Given the description of an element on the screen output the (x, y) to click on. 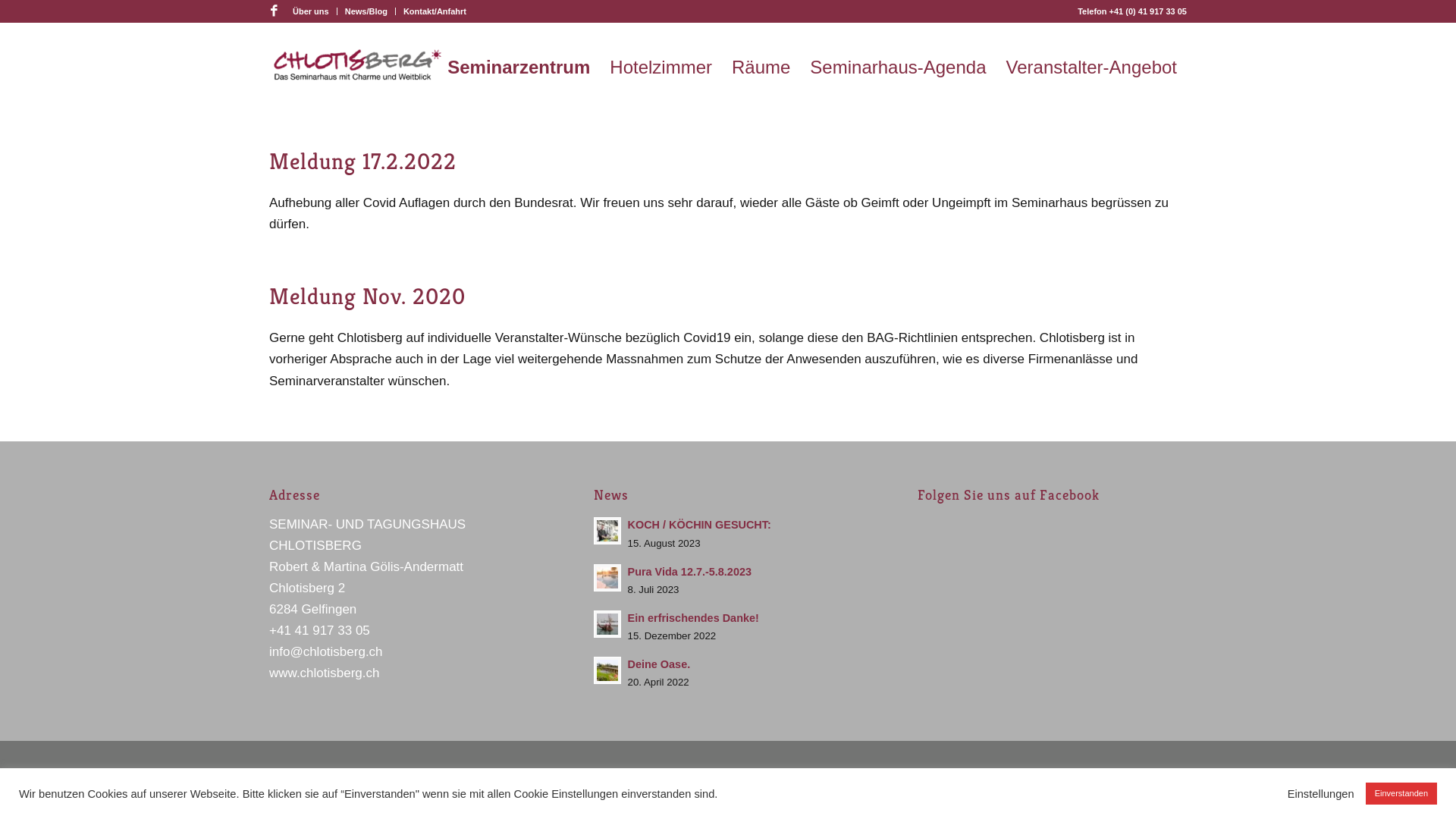
Ein erfrischendes Danke! Element type: text (693, 617)
Einverstanden Element type: text (1401, 793)
Hotelzimmer Element type: text (660, 67)
+41 (0) 41 917 33 05 Element type: text (1147, 10)
Pura Vida 12.7.-5.8.2023 Element type: text (689, 571)
Read: Deine Oase. Element type: hover (607, 670)
Seminarzentrum Element type: text (518, 67)
Read: Ein erfrischendes Danke! Element type: hover (607, 623)
Einstellungen Element type: text (1320, 793)
Veranstalter-Angebot Element type: text (1091, 67)
Deine Oase. Element type: text (658, 664)
Facebook Element type: hover (273, 11)
Kontakt/Anfahrt Element type: text (434, 11)
Seminarhaus-Agenda Element type: text (897, 67)
News/Blog Element type: text (366, 11)
Read: Pura Vida 12.7.-5.8.2023 Element type: hover (607, 577)
